Given the description of an element on the screen output the (x, y) to click on. 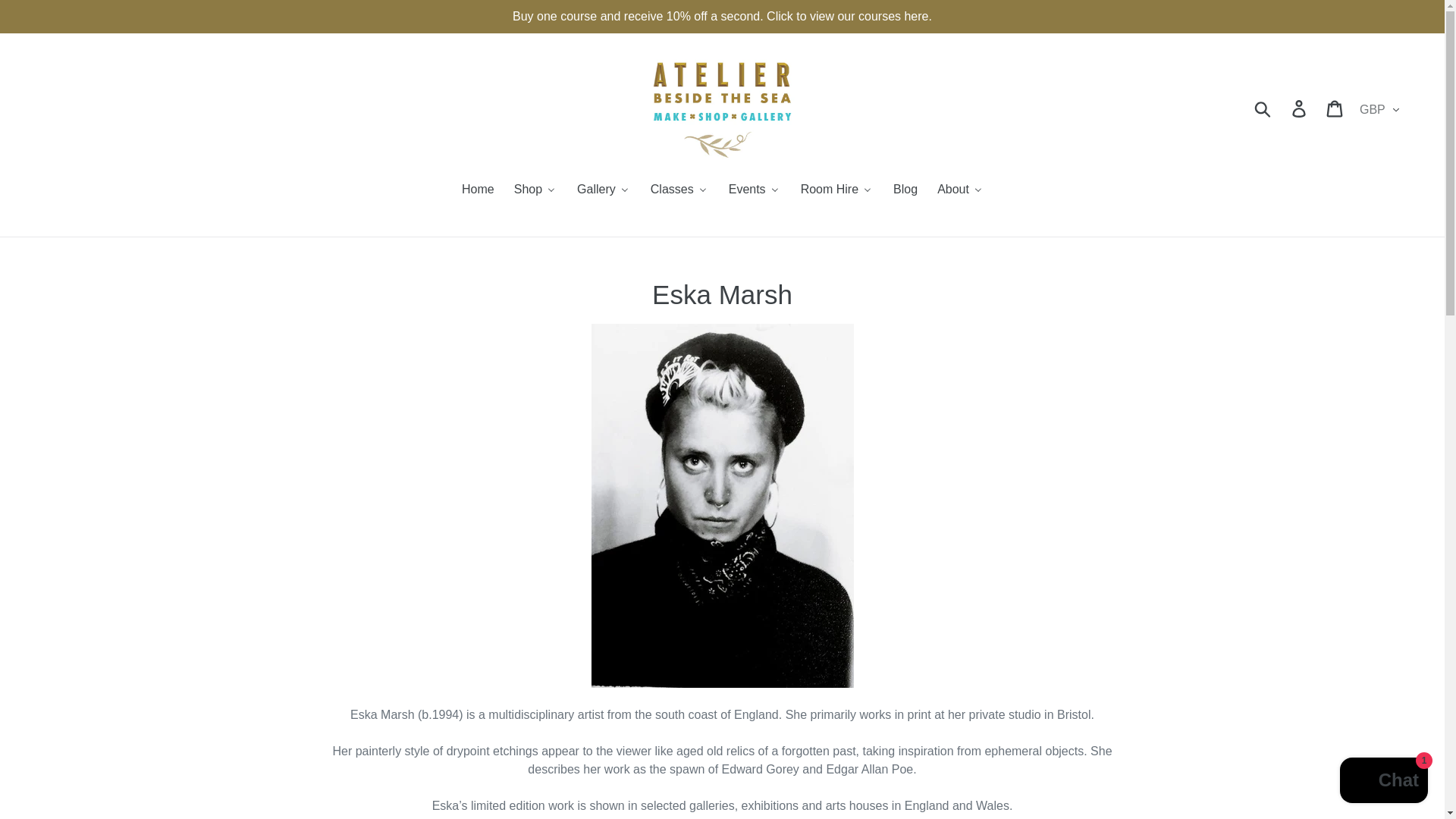
Cart (1335, 108)
Log in (1299, 108)
Submit (1263, 108)
